Given the description of an element on the screen output the (x, y) to click on. 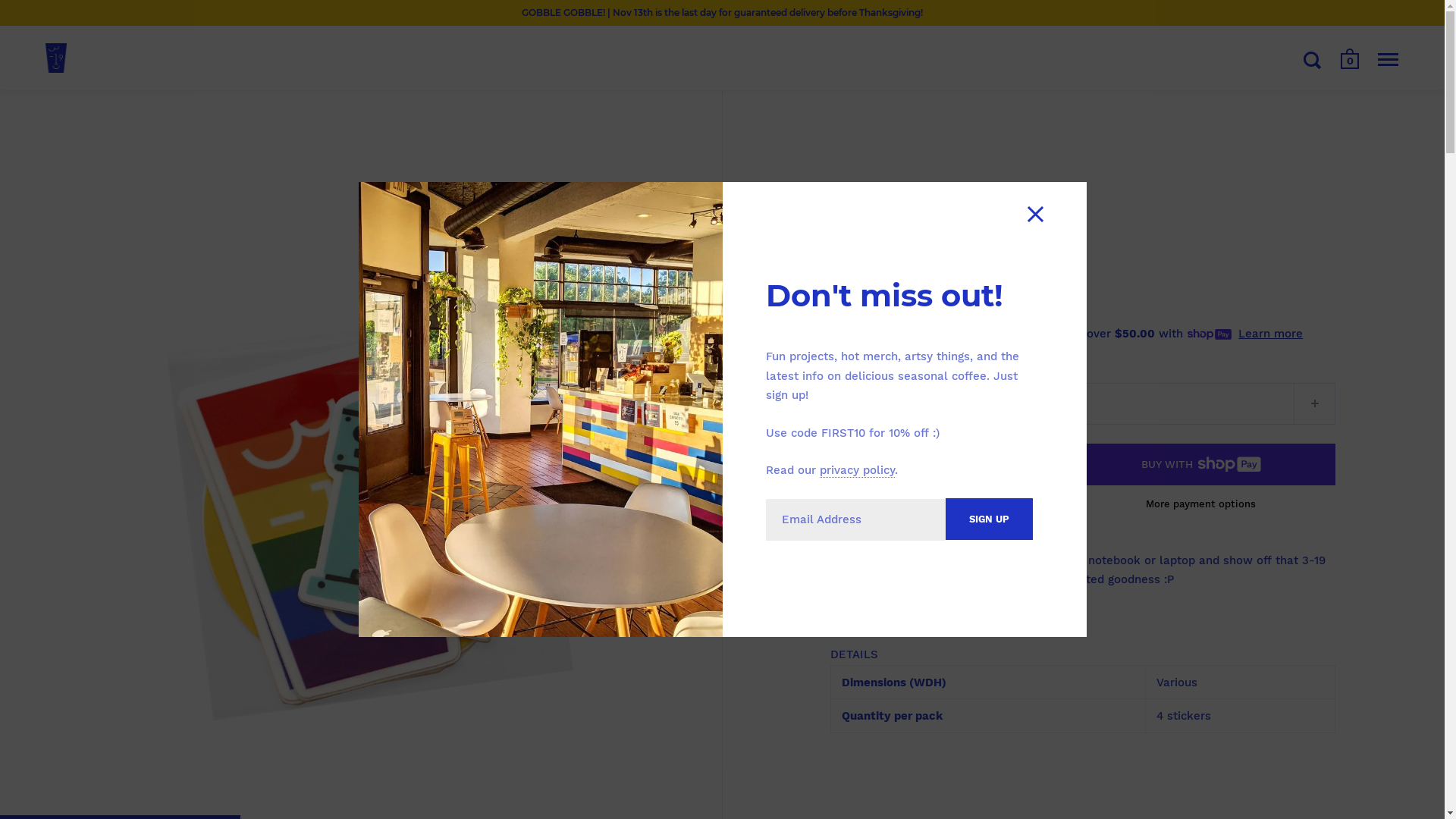
Sign up Element type: text (988, 518)
Open menu Element type: hover (1387, 59)
privacy policy Element type: text (856, 470)
Open search Element type: hover (1313, 59)
More payment options Element type: text (1200, 503)
0 Element type: text (1349, 61)
Home Element type: text (844, 210)
ADD TO CART Element type: text (939, 464)
